Given the description of an element on the screen output the (x, y) to click on. 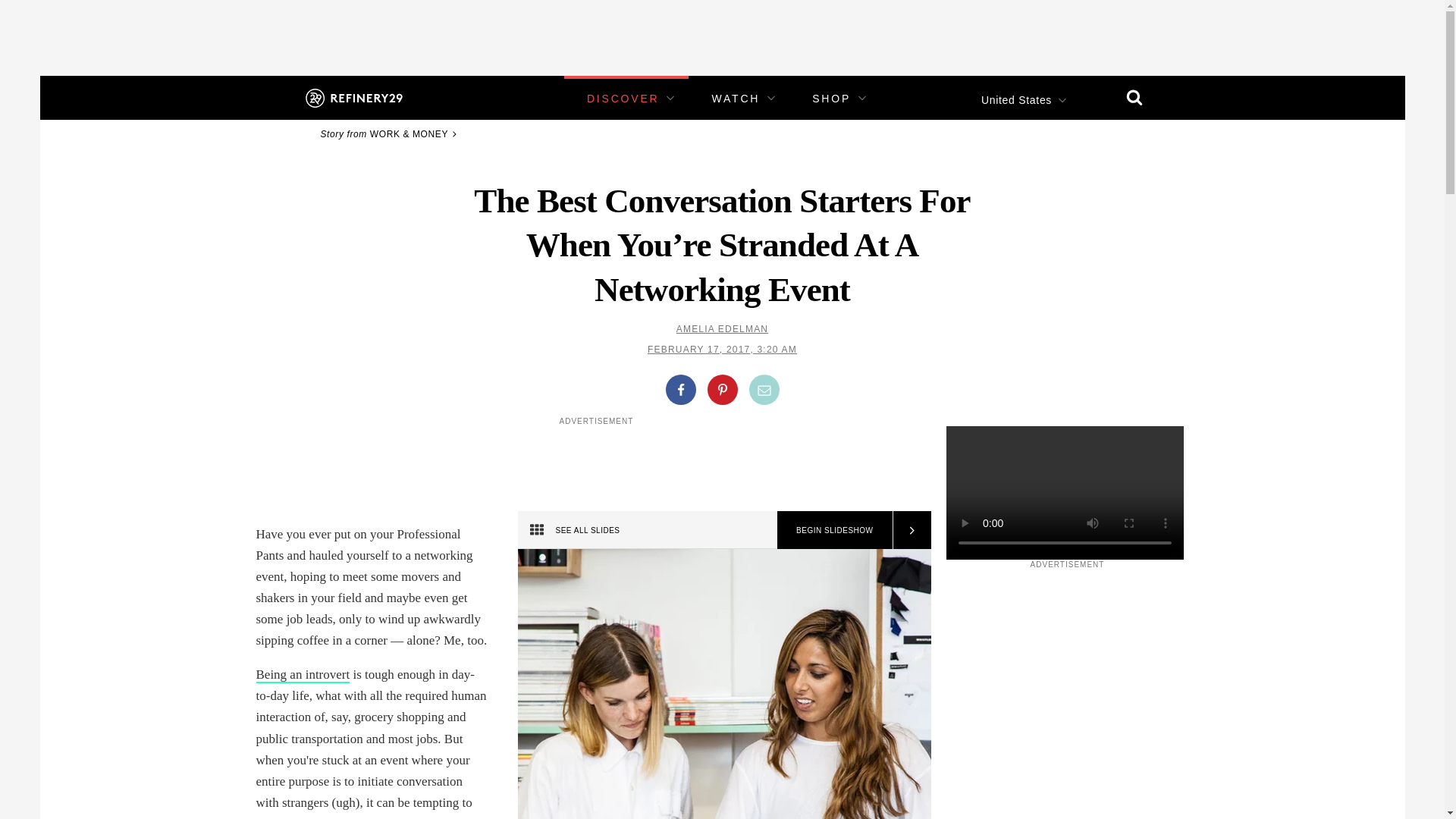
Next Slide (910, 529)
Share on Pinterest (721, 389)
3rd party ad content (1066, 665)
Begin Slideshow (834, 529)
Share by Email (763, 389)
Share on Facebook (680, 389)
SHOP (831, 98)
DISCOVER (622, 98)
WATCH (735, 98)
Being an introvert (303, 675)
BEGIN SLIDESHOW (834, 529)
3rd party ad content (721, 33)
AMELIA EDELMAN (722, 328)
Refinery29 (352, 97)
